Given the description of an element on the screen output the (x, y) to click on. 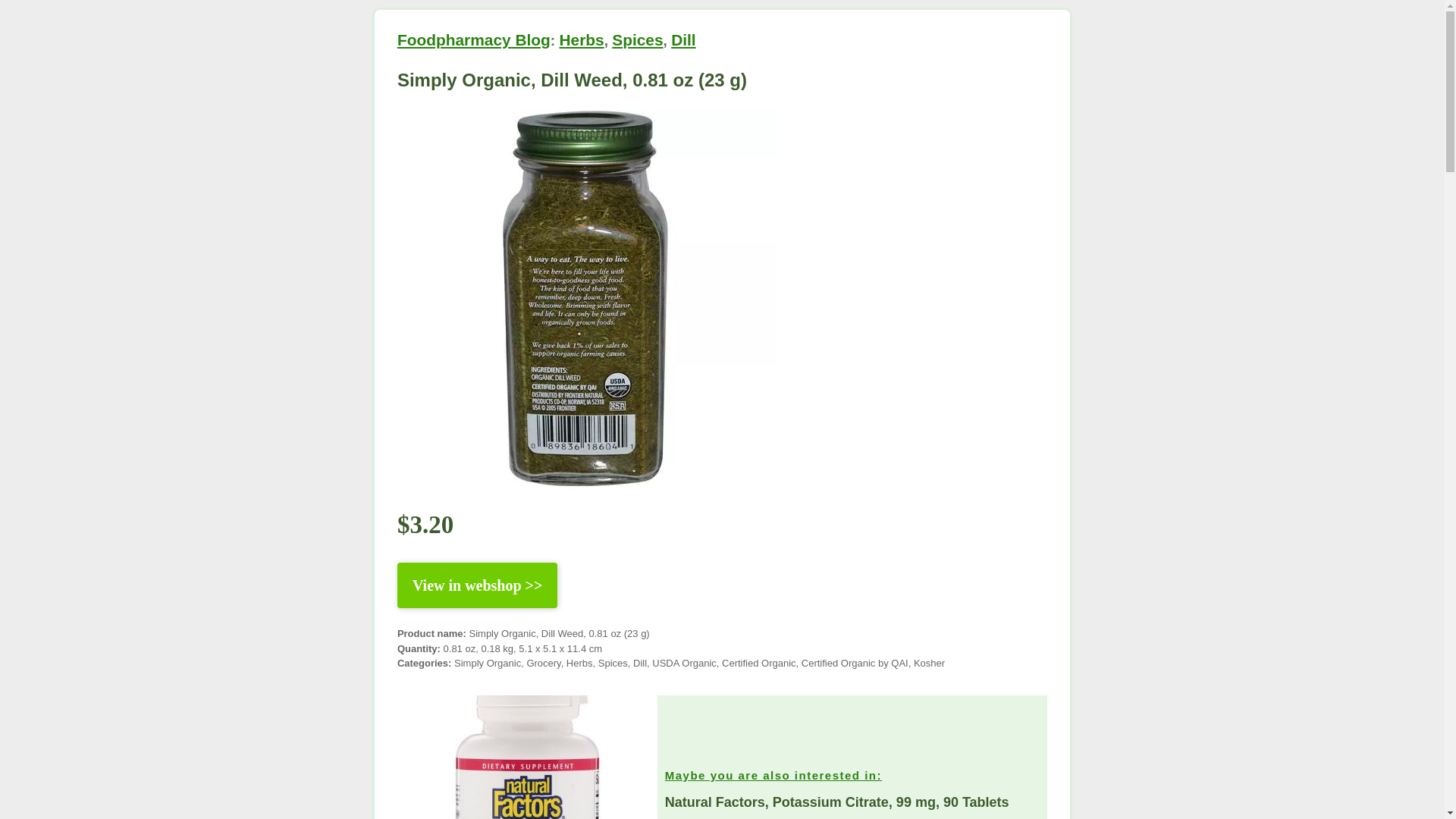
View all products in Spices (636, 39)
Foodpharmacy Blog (473, 39)
Dill (683, 39)
View all products in Herbs (581, 39)
Spices (636, 39)
View all products in Dill (683, 39)
Herbs (581, 39)
